Given the description of an element on the screen output the (x, y) to click on. 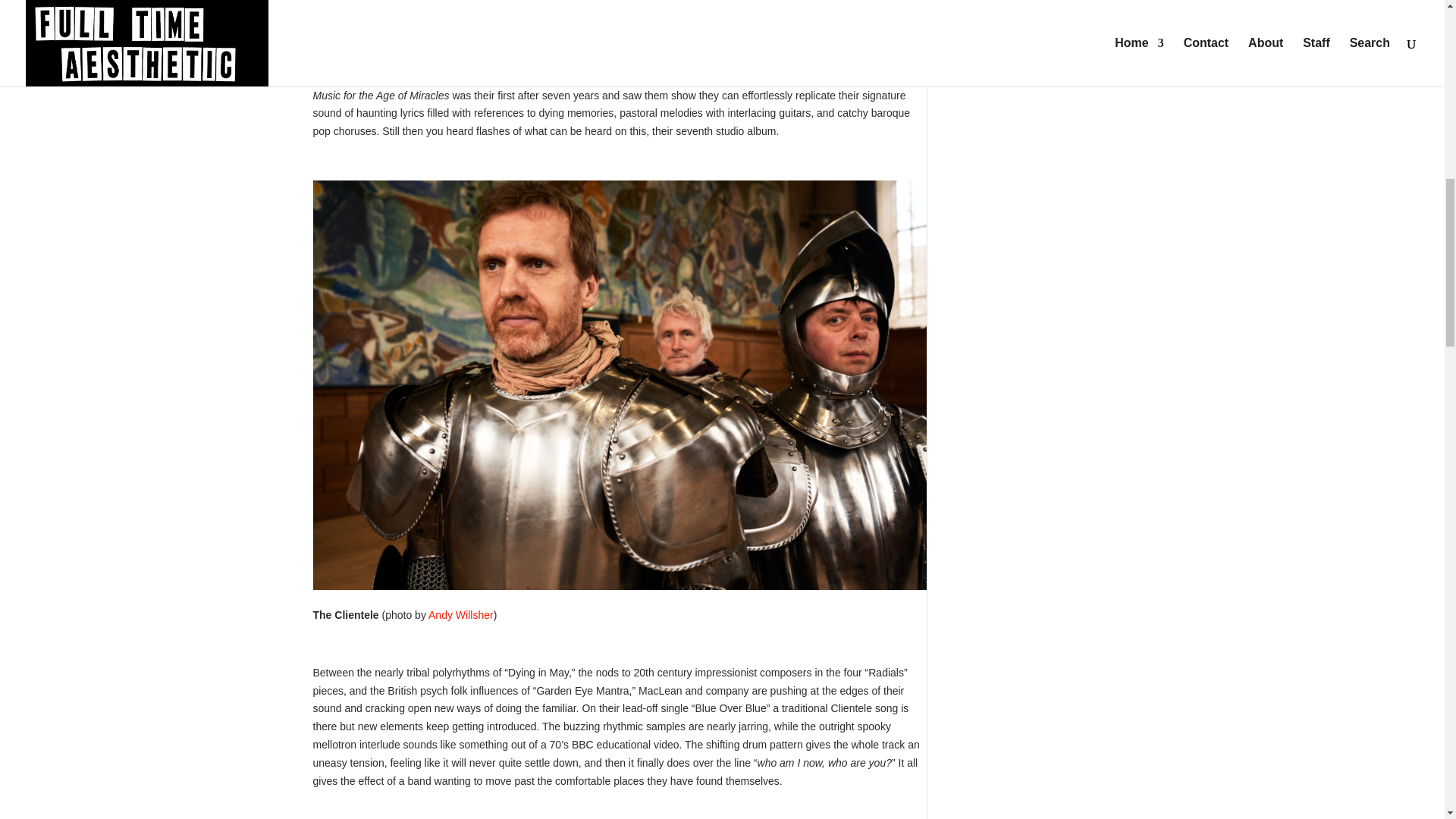
Andy Willsher (460, 614)
